Given the description of an element on the screen output the (x, y) to click on. 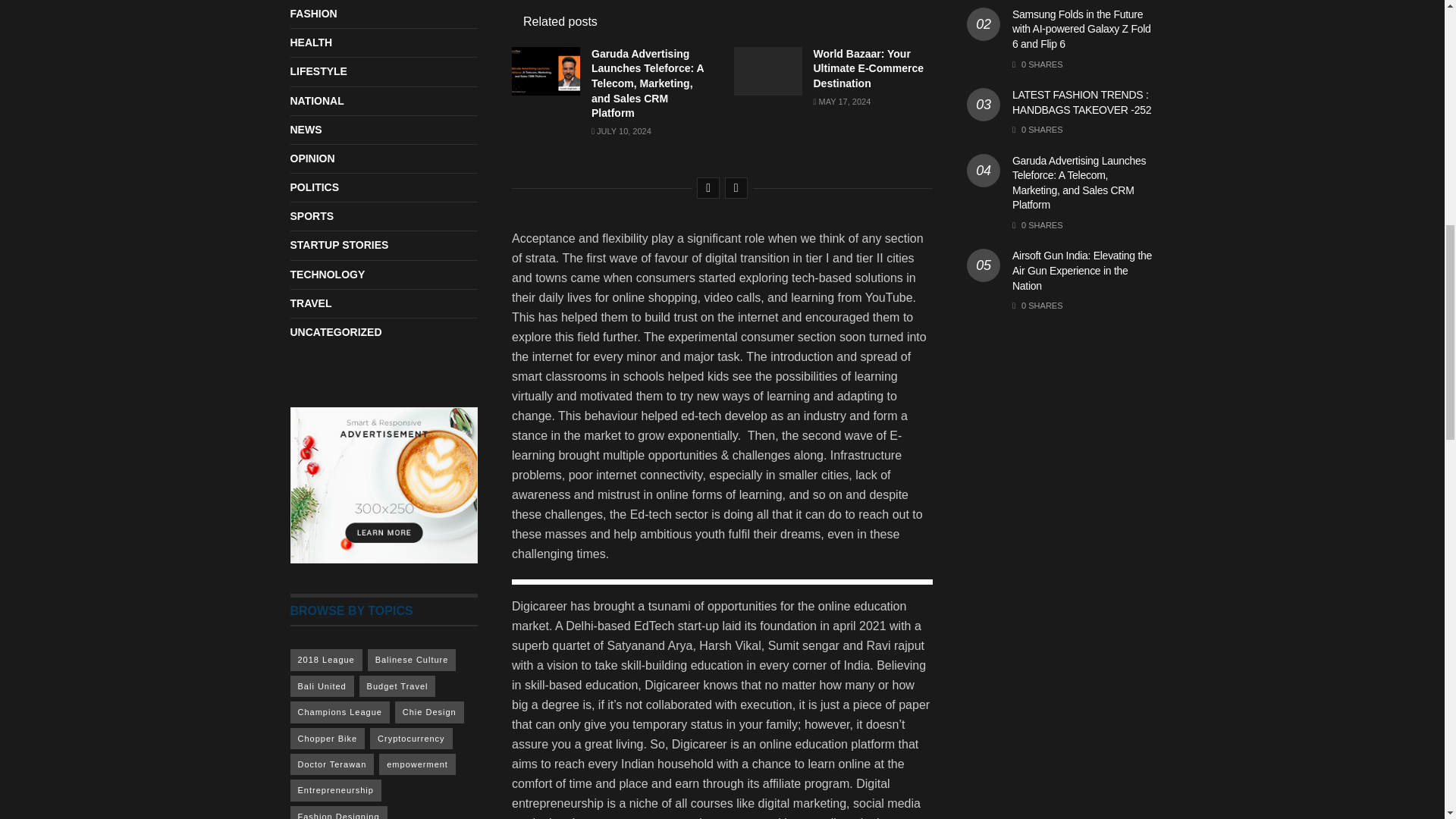
Previous (708, 188)
Next (736, 188)
World Bazaar: Your Ultimate E-Commerce Destination (867, 68)
JULY 10, 2024 (620, 130)
MAY 17, 2024 (841, 101)
